Given the description of an element on the screen output the (x, y) to click on. 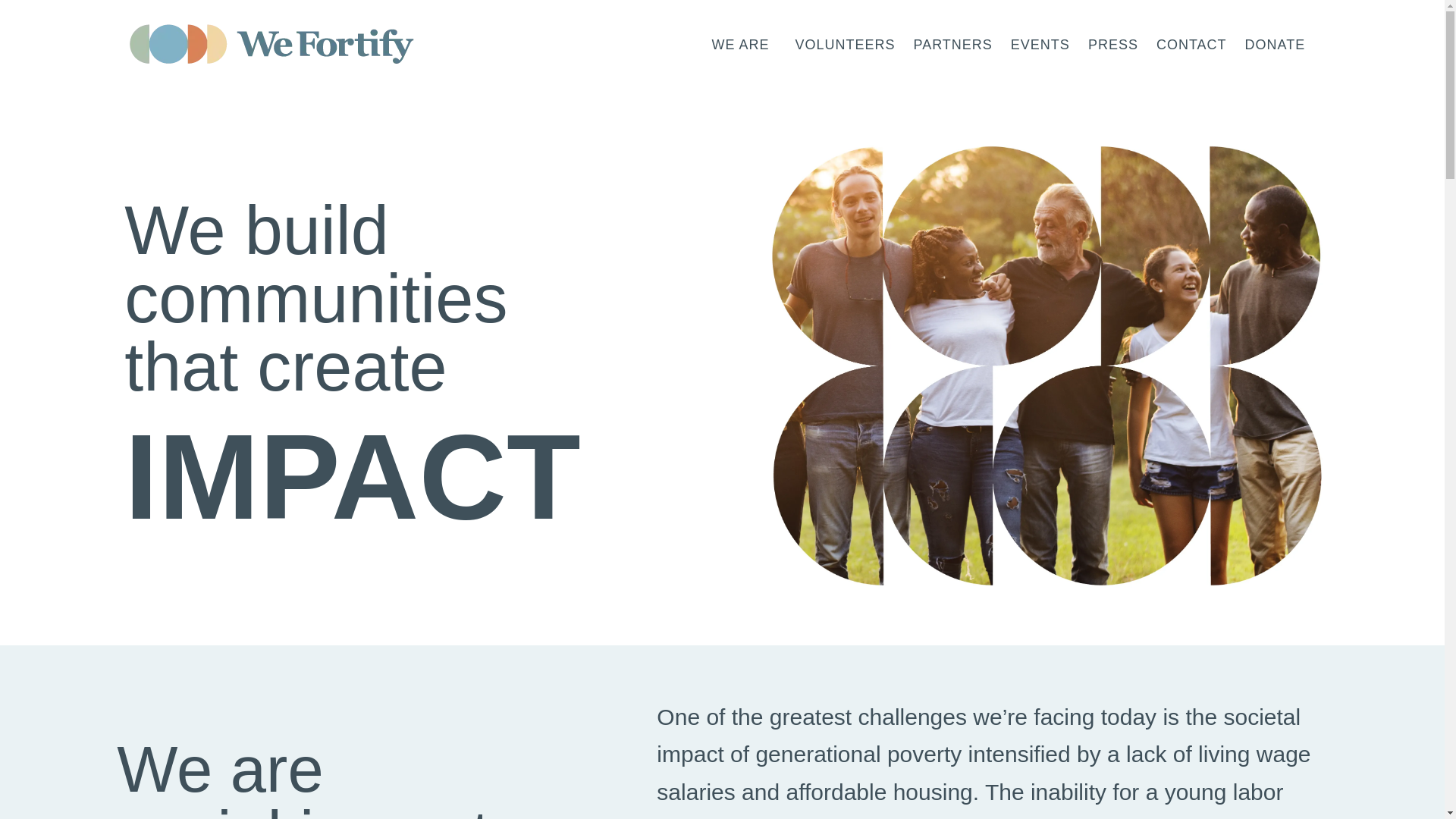
DONATE (1275, 44)
VOLUNTEERS (845, 44)
CONTACT (1191, 44)
EVENTS (1039, 44)
WE ARE (743, 44)
PARTNERS (952, 44)
PRESS (1112, 44)
